Given the description of an element on the screen output the (x, y) to click on. 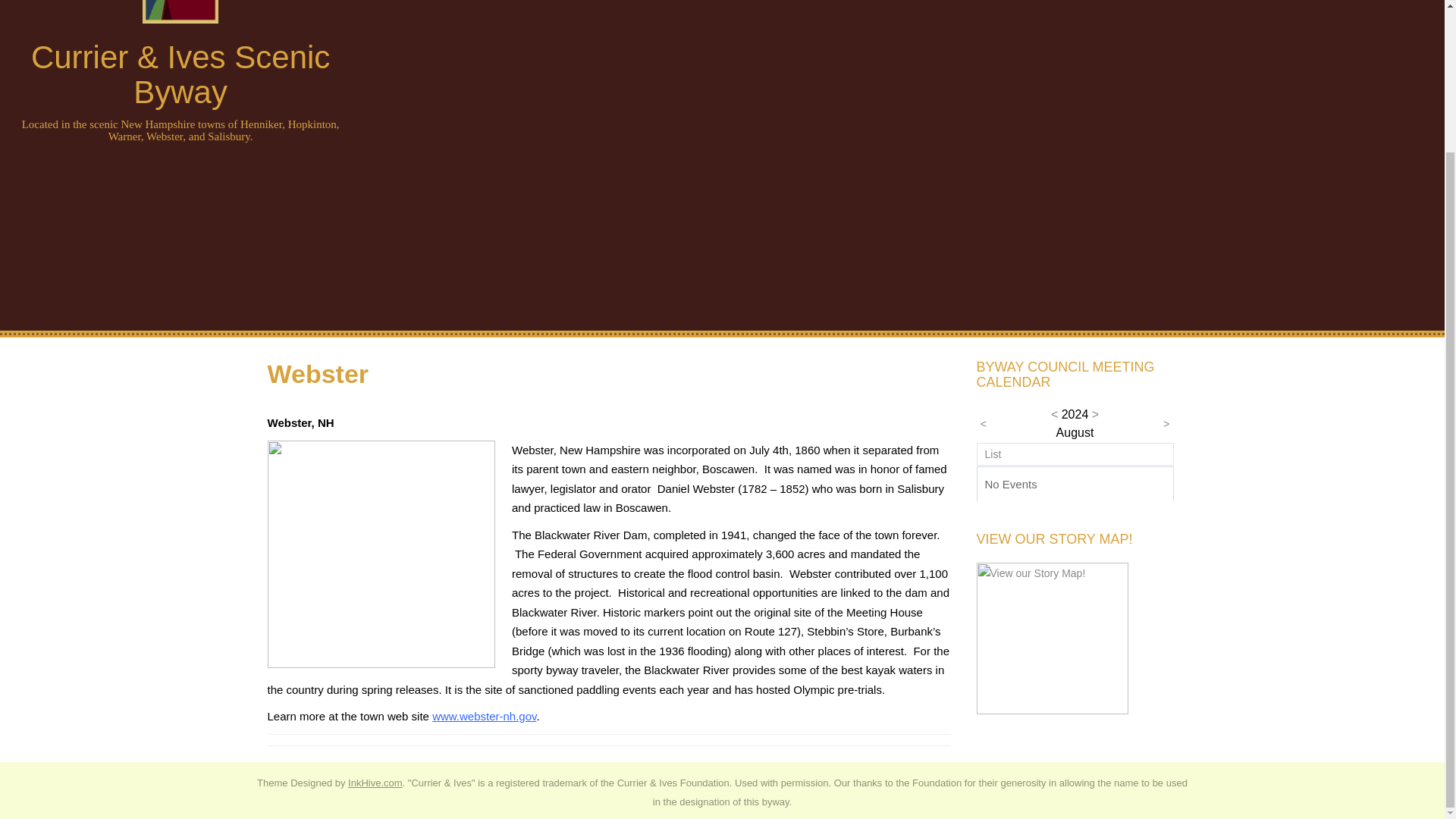
InkHive.com (375, 782)
List (992, 453)
View our Story Map! (1052, 636)
www.webster-nh.gov (483, 716)
